Given the description of an element on the screen output the (x, y) to click on. 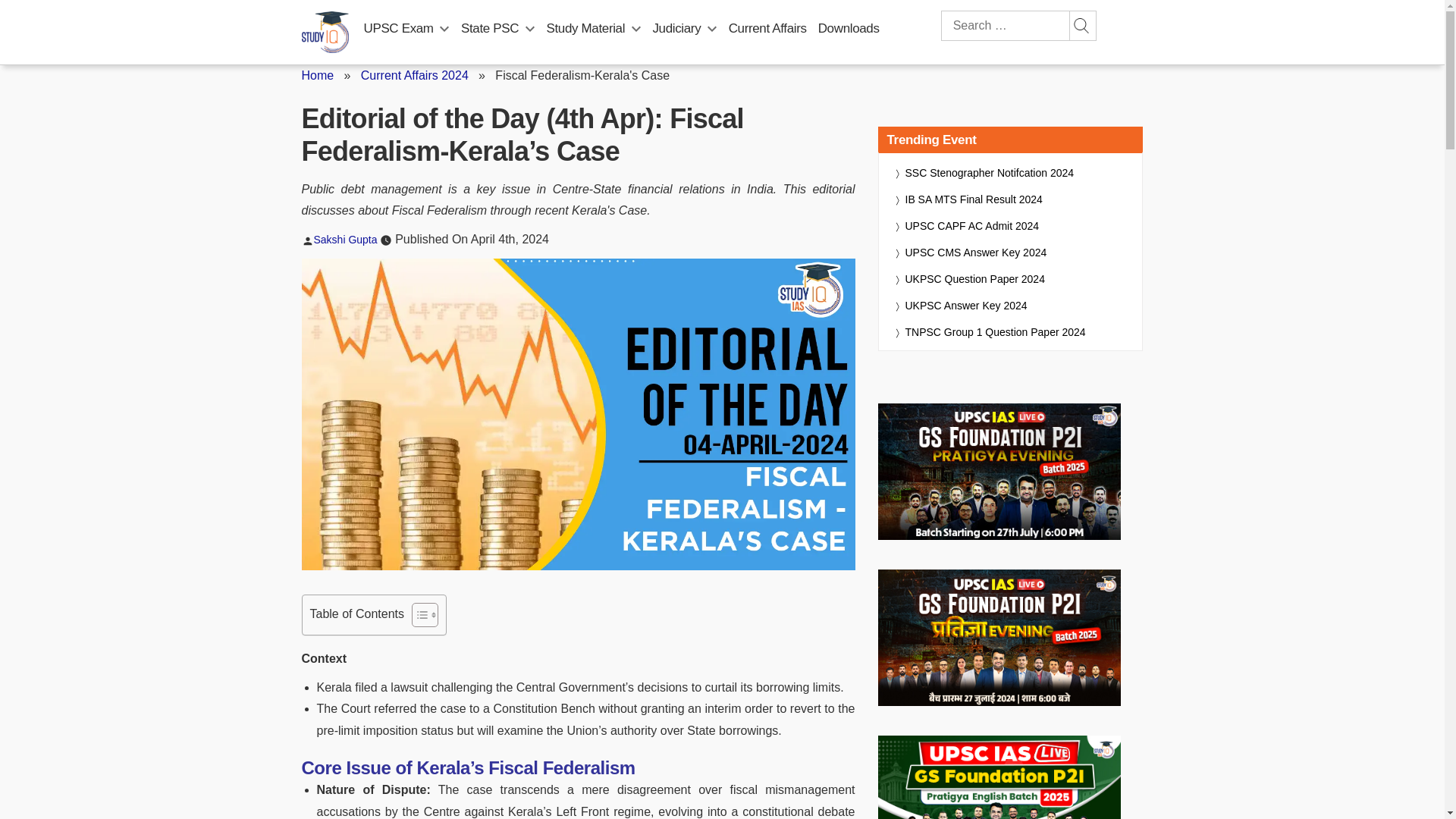
UPSC Exam (398, 28)
Search (1080, 25)
Search (1080, 25)
